Given the description of an element on the screen output the (x, y) to click on. 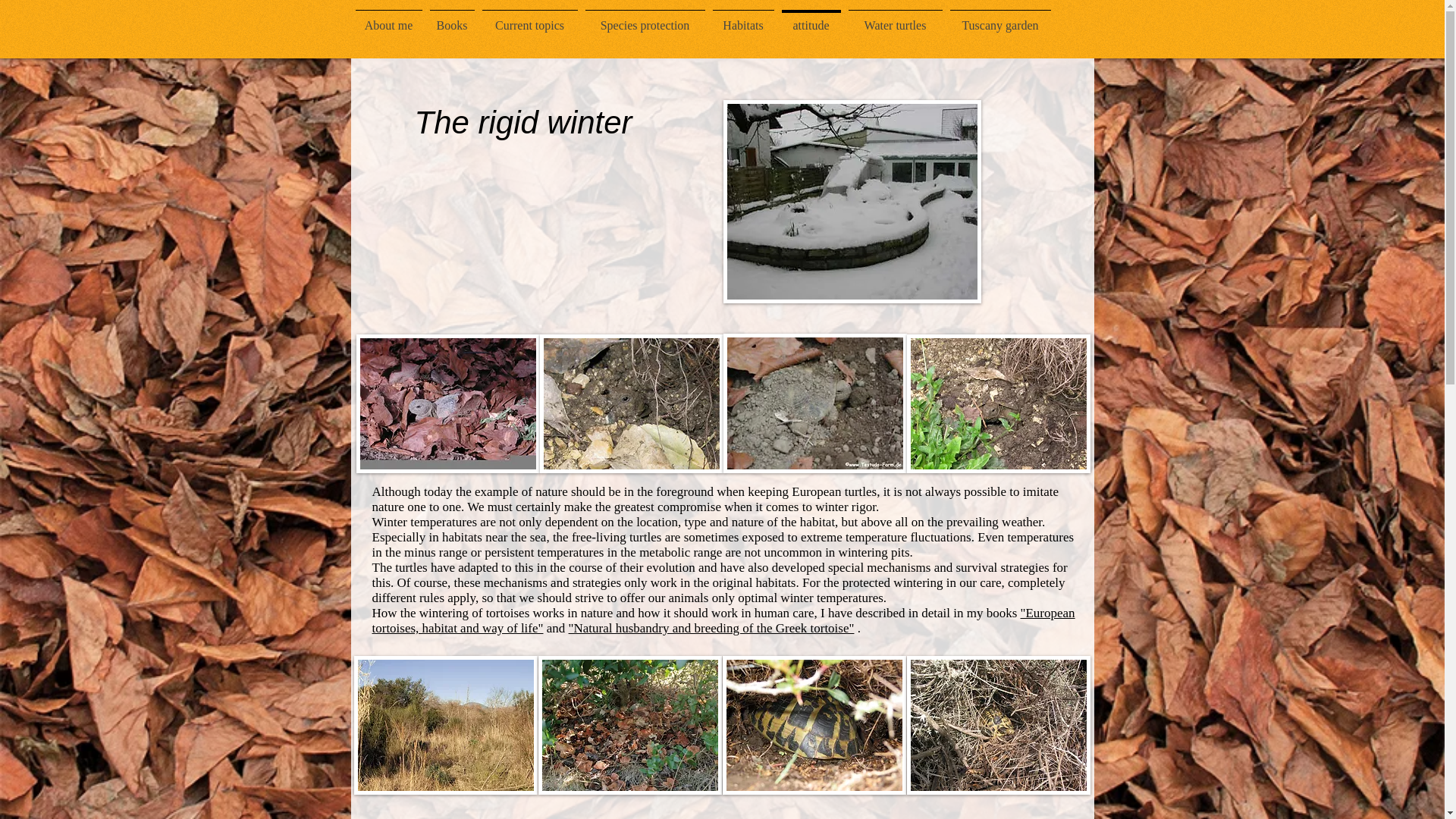
Species protection (643, 18)
Books (452, 18)
About me (389, 18)
Current topics (528, 18)
Wintergehege (852, 201)
Habitats (742, 18)
attitude (810, 18)
Toskana 03.01.2011 (445, 725)
